Given the description of an element on the screen output the (x, y) to click on. 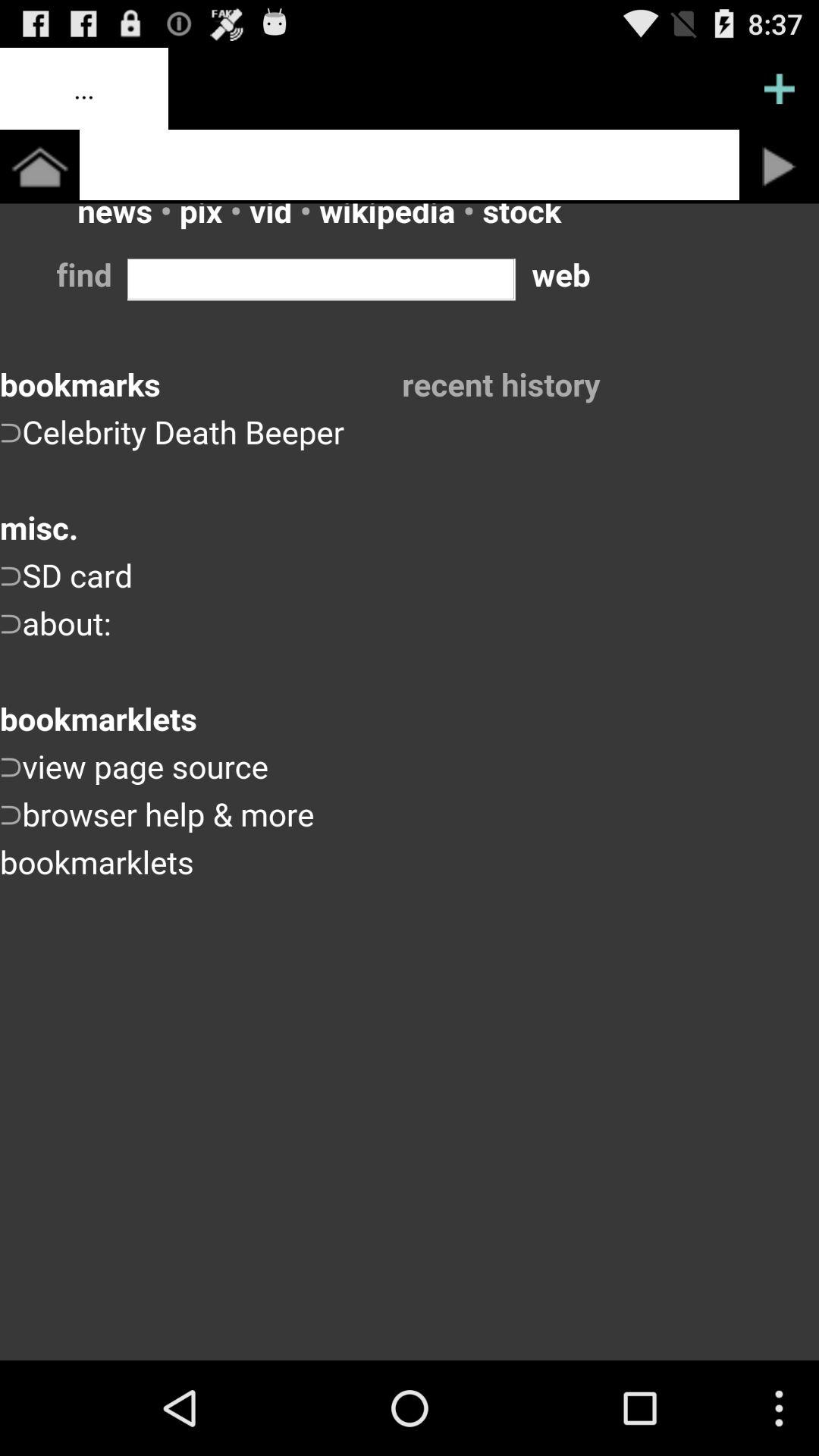
play button (779, 166)
